Given the description of an element on the screen output the (x, y) to click on. 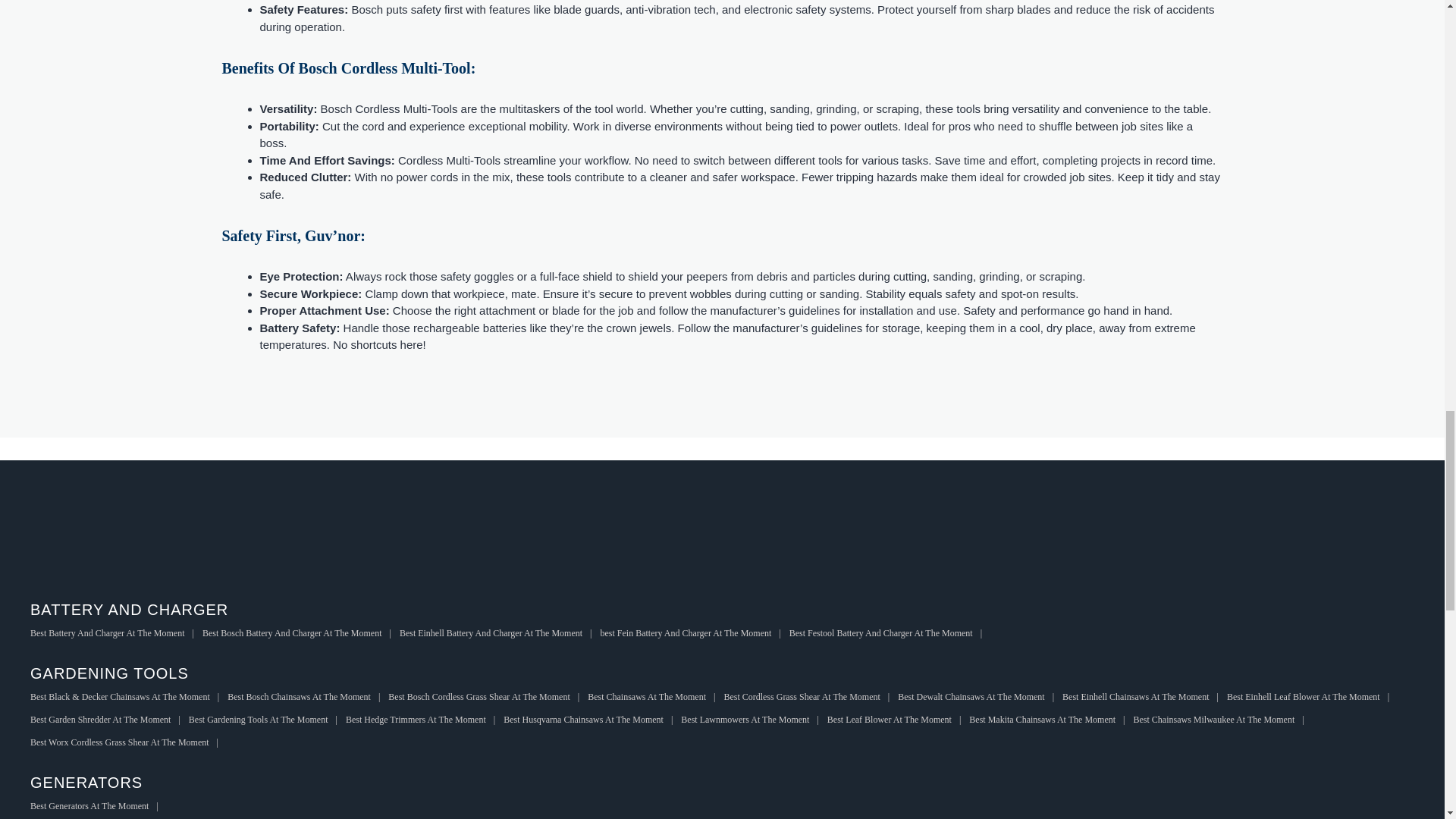
Gardening Tools Best Einhell Leaf Blower At The Moment (1312, 696)
Gardening Tools Best Bosch Chainsaws At The Moment (307, 696)
Gardening Tools Best Dewalt Chainsaws At The Moment (980, 696)
Gardening Tools Best Einhell Chainsaws At The Moment (1144, 696)
Gardening Tools Best Cordless Grass Shear At The Moment (810, 696)
Gardening Tools Best Gardening Tools At The Moment (267, 719)
